Given the description of an element on the screen output the (x, y) to click on. 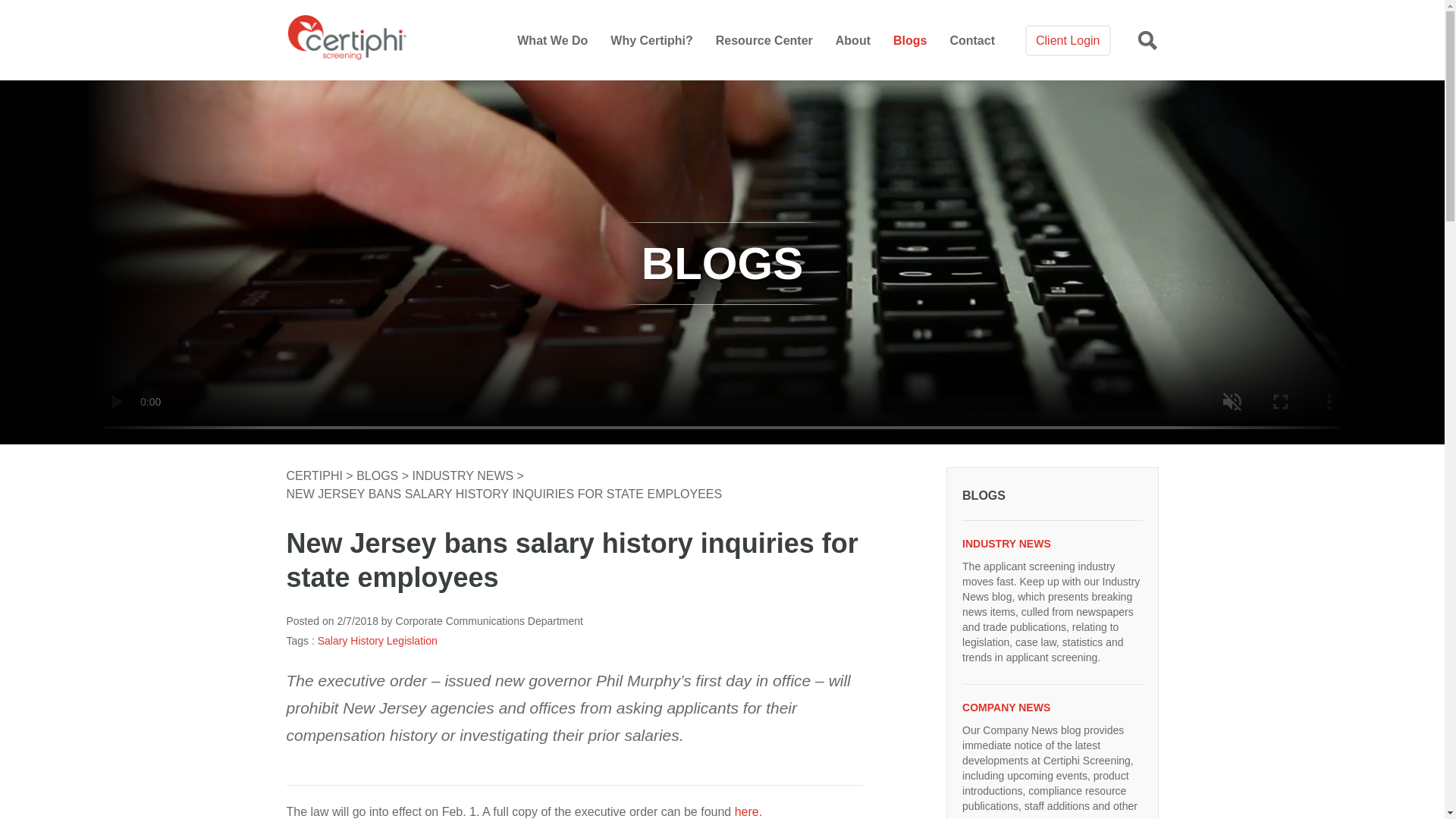
About (852, 40)
NEW JERSEY BANS SALARY HISTORY INQUIRIES FOR STATE EMPLOYEES (504, 494)
Why Certiphi? (651, 40)
Contact (971, 40)
here (746, 811)
INDUSTRY NEWS (1051, 543)
BLOGS (1051, 495)
INDUSTRY NEWS (464, 475)
Blogs (909, 40)
Salary History Legislation (377, 640)
